Given the description of an element on the screen output the (x, y) to click on. 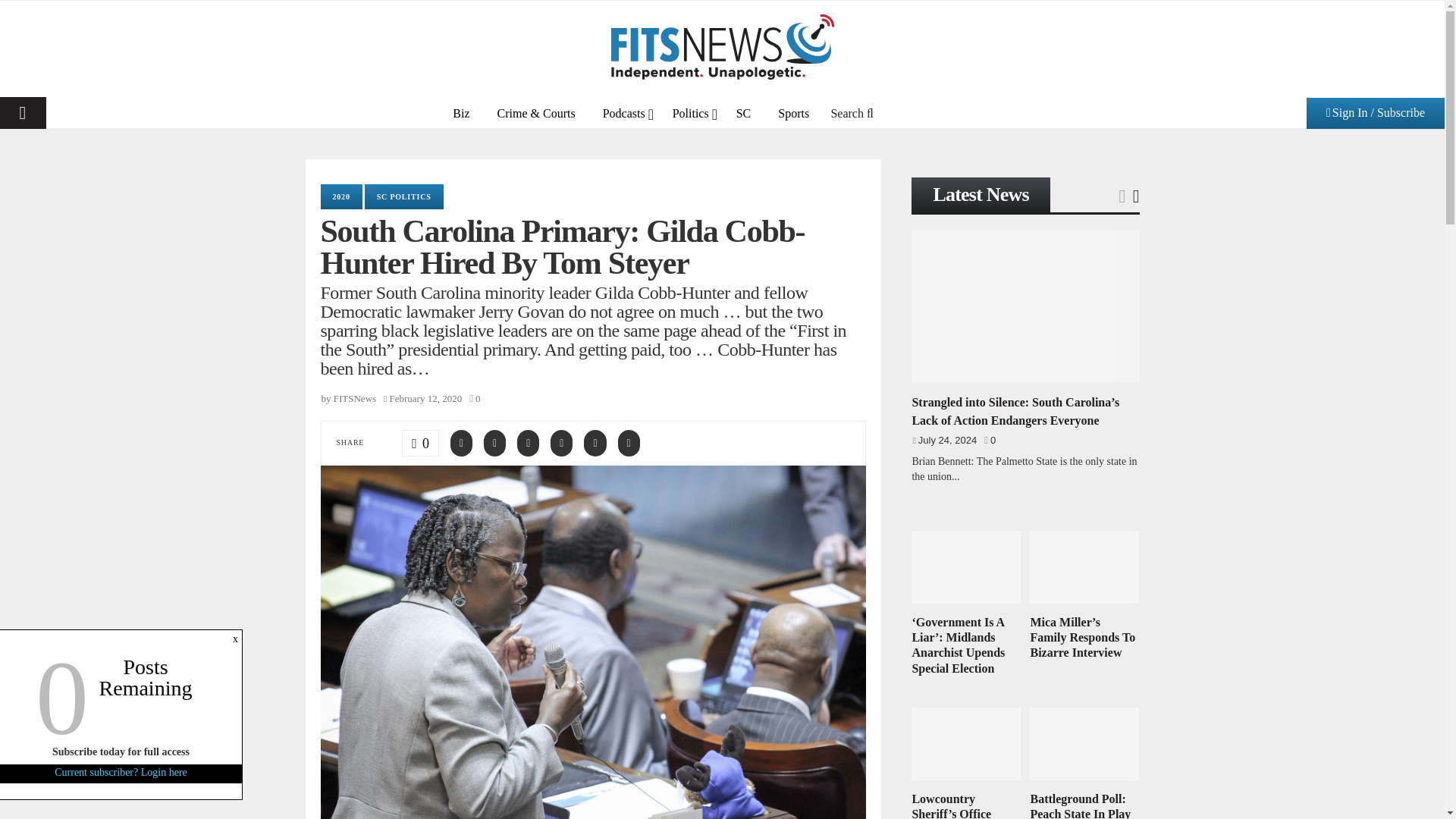
Biz (461, 112)
Login to your account (722, 262)
Podcasts (624, 112)
Sports (793, 112)
Search (852, 112)
Sign up new account (722, 538)
PRIMARY MENU (22, 112)
Politics (690, 112)
SC (743, 112)
Sign up new account (722, 415)
Like (420, 442)
